Given the description of an element on the screen output the (x, y) to click on. 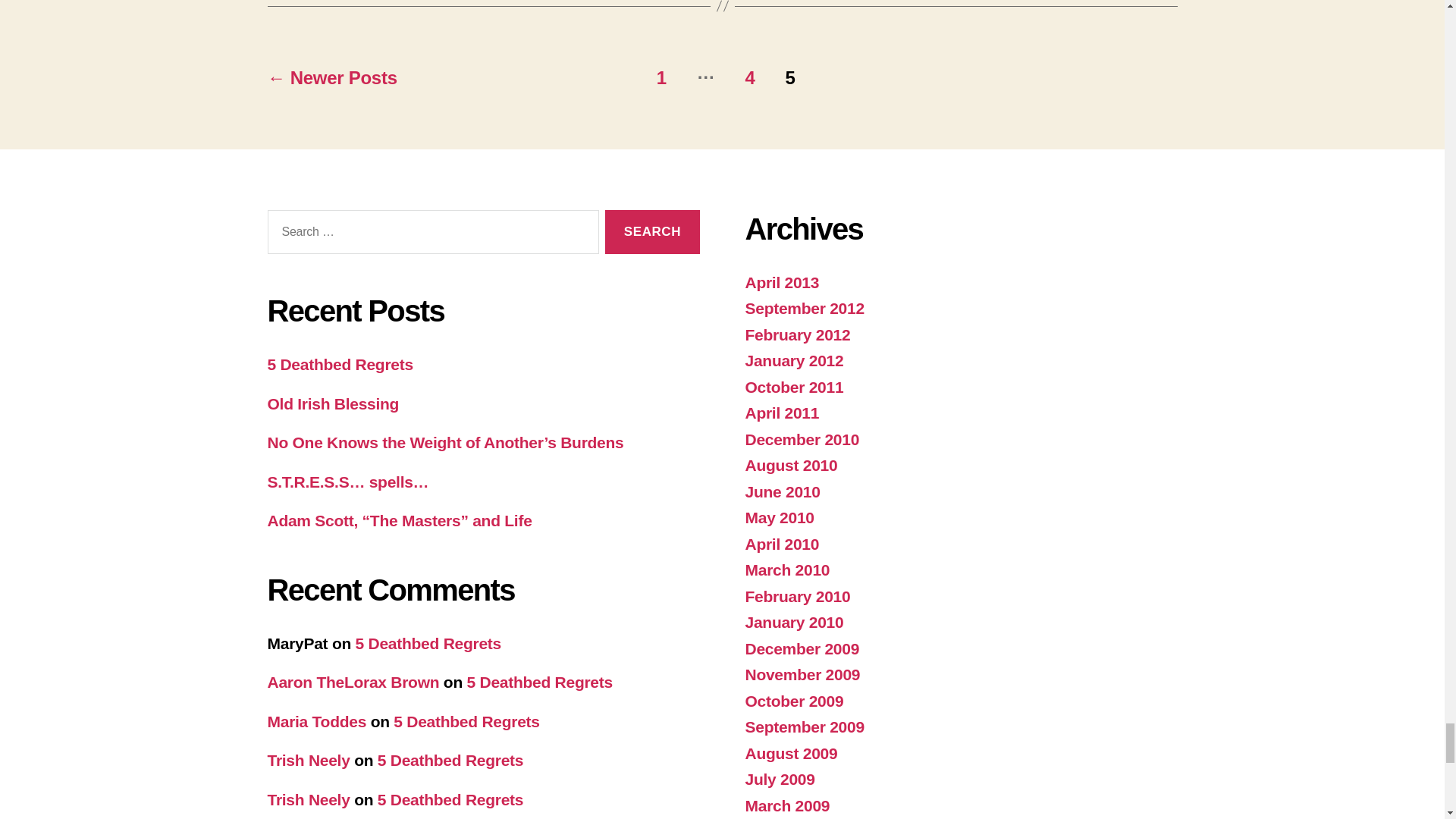
Search (651, 231)
Search (651, 231)
